Given the description of an element on the screen output the (x, y) to click on. 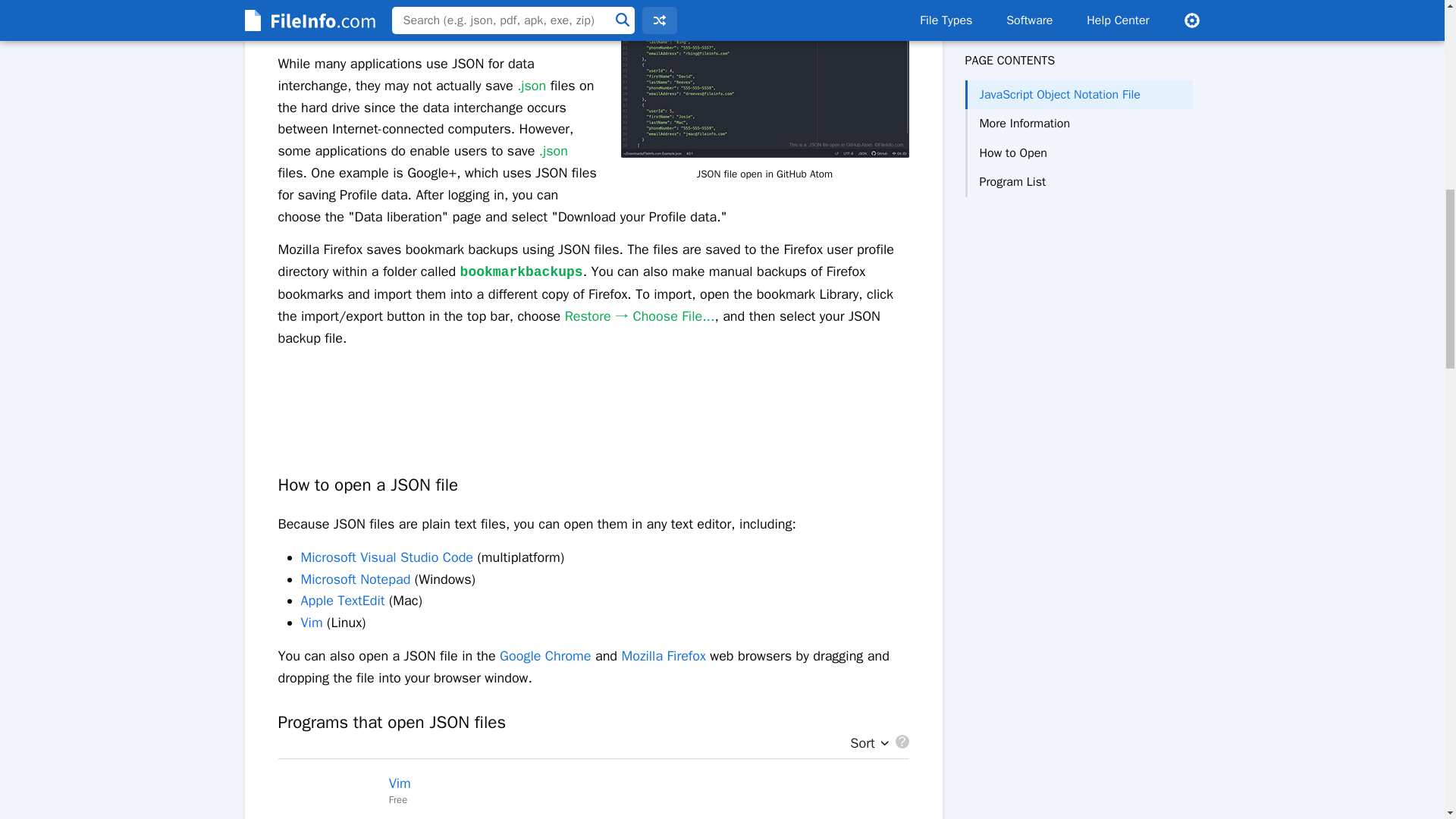
3rd party ad content (592, 397)
Google Chrome (545, 655)
Microsoft Notepad (354, 579)
Mozilla Firefox (662, 655)
Apple TextEdit (341, 600)
Pico (400, 817)
JSON File Screenshot (764, 79)
Vim (399, 782)
Vim (310, 622)
Sort (865, 744)
XML (531, 30)
Microsoft Visual Studio Code (386, 556)
